Given the description of an element on the screen output the (x, y) to click on. 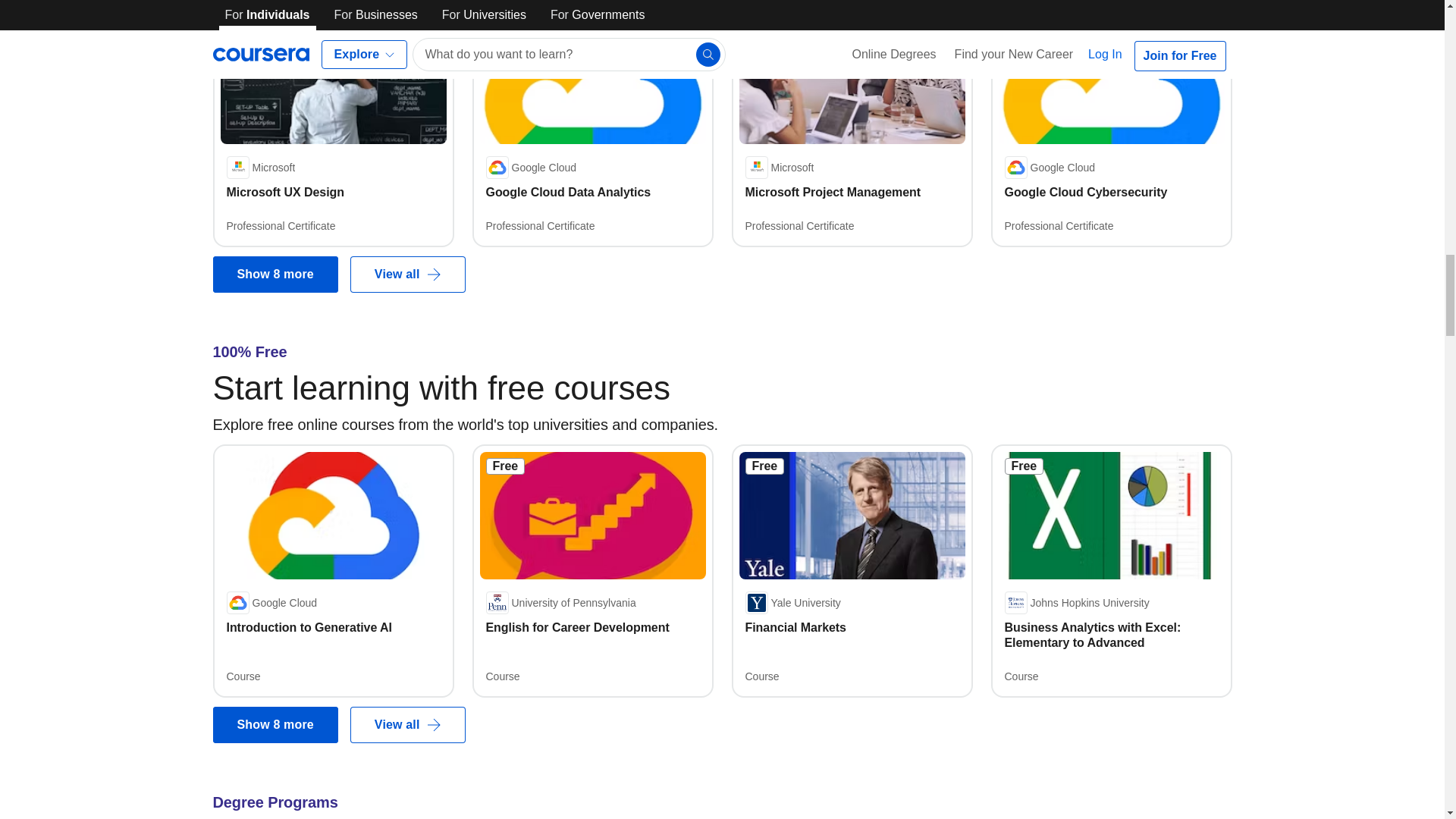
Google Cloud (530, 167)
Microsoft (260, 167)
Google Cloud (1049, 167)
Google Cloud (271, 602)
Yale University (792, 602)
Johns Hopkins University (1076, 602)
University of Pennsylvania (559, 602)
Microsoft (778, 167)
